Given the description of an element on the screen output the (x, y) to click on. 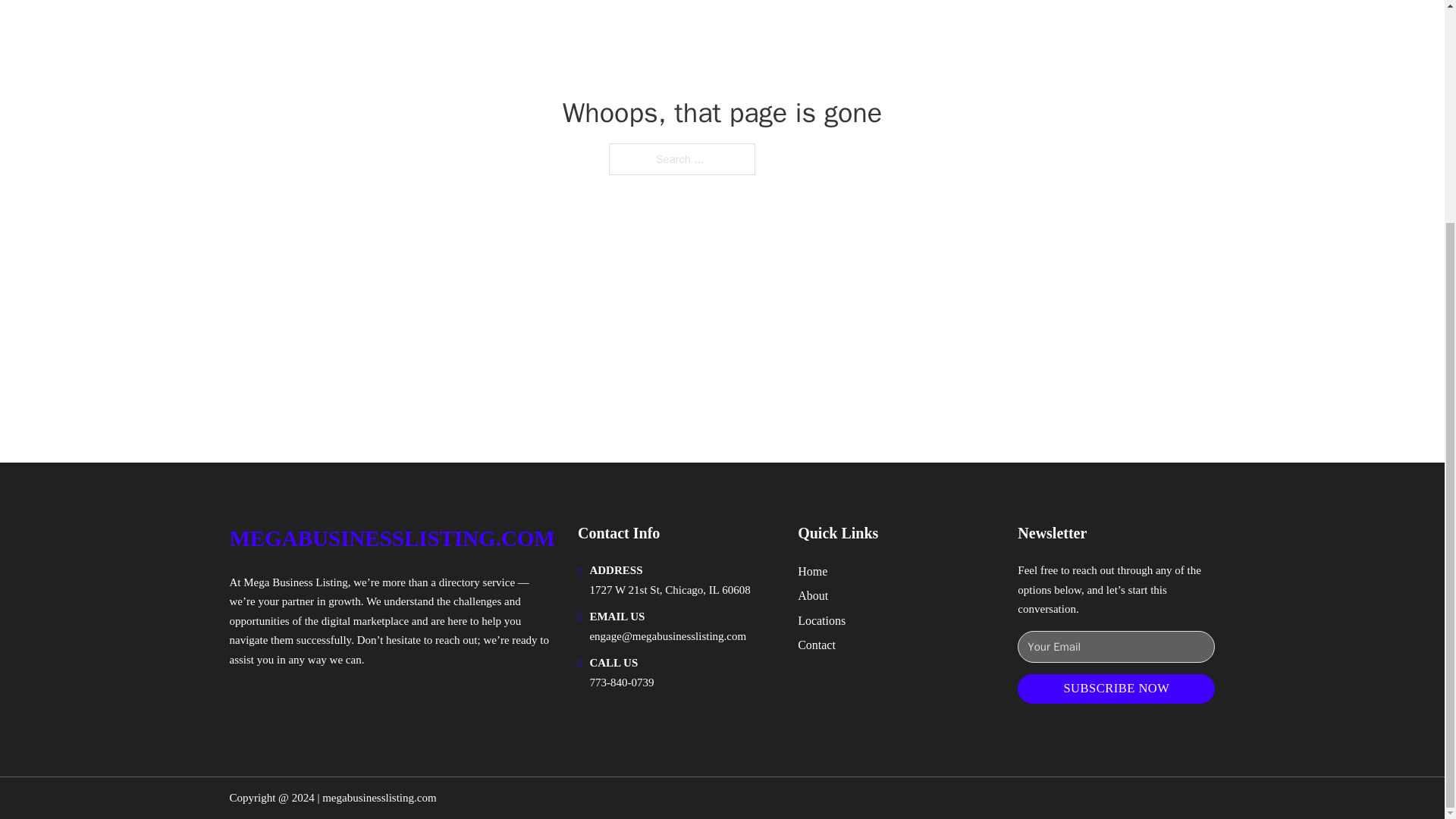
SUBSCRIBE NOW (1115, 688)
Locations (821, 620)
Contact (816, 644)
773-840-0739 (621, 682)
Home (812, 571)
About (812, 595)
MEGABUSINESSLISTING.COM (391, 538)
